Given the description of an element on the screen output the (x, y) to click on. 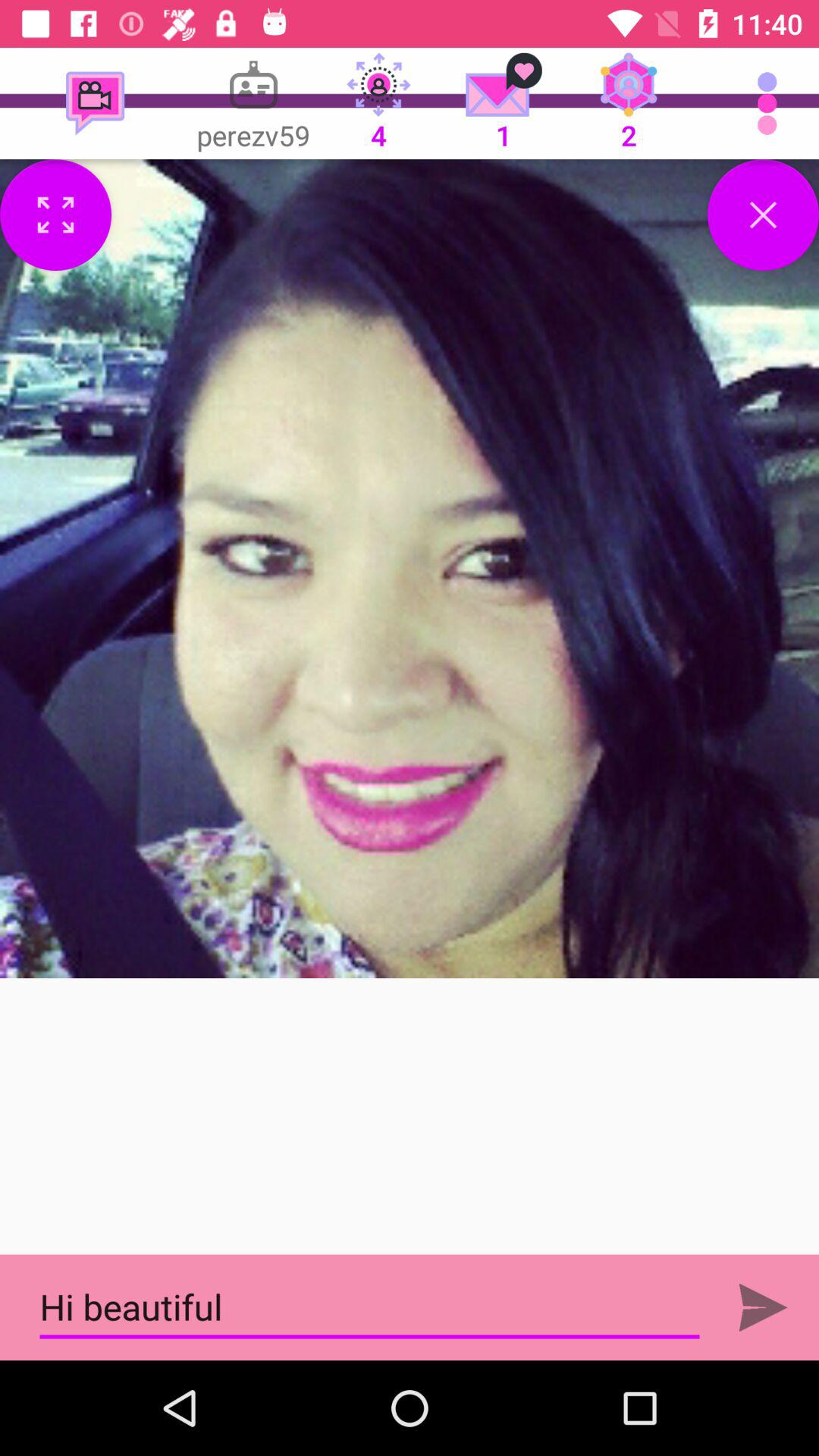
menu options (55, 214)
